Given the description of an element on the screen output the (x, y) to click on. 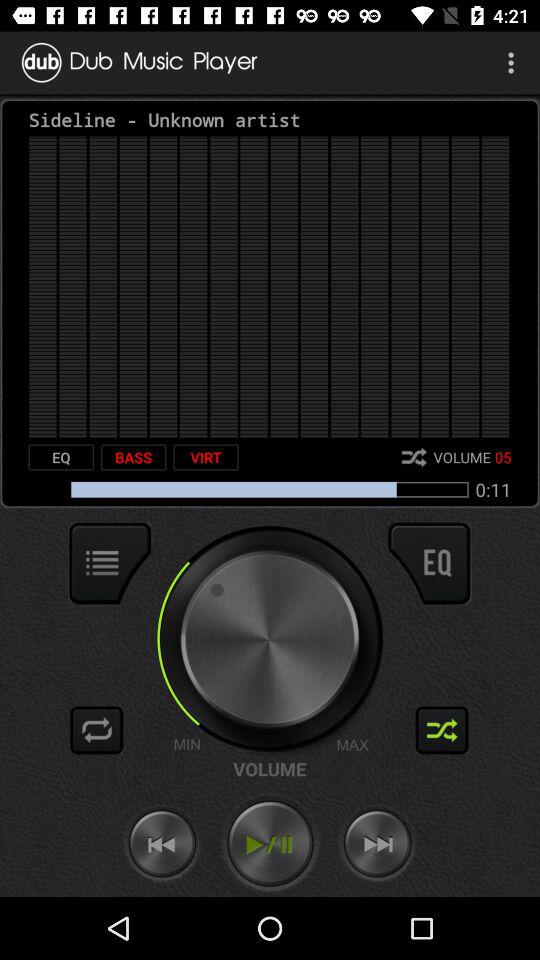
repeat option (97, 730)
